Given the description of an element on the screen output the (x, y) to click on. 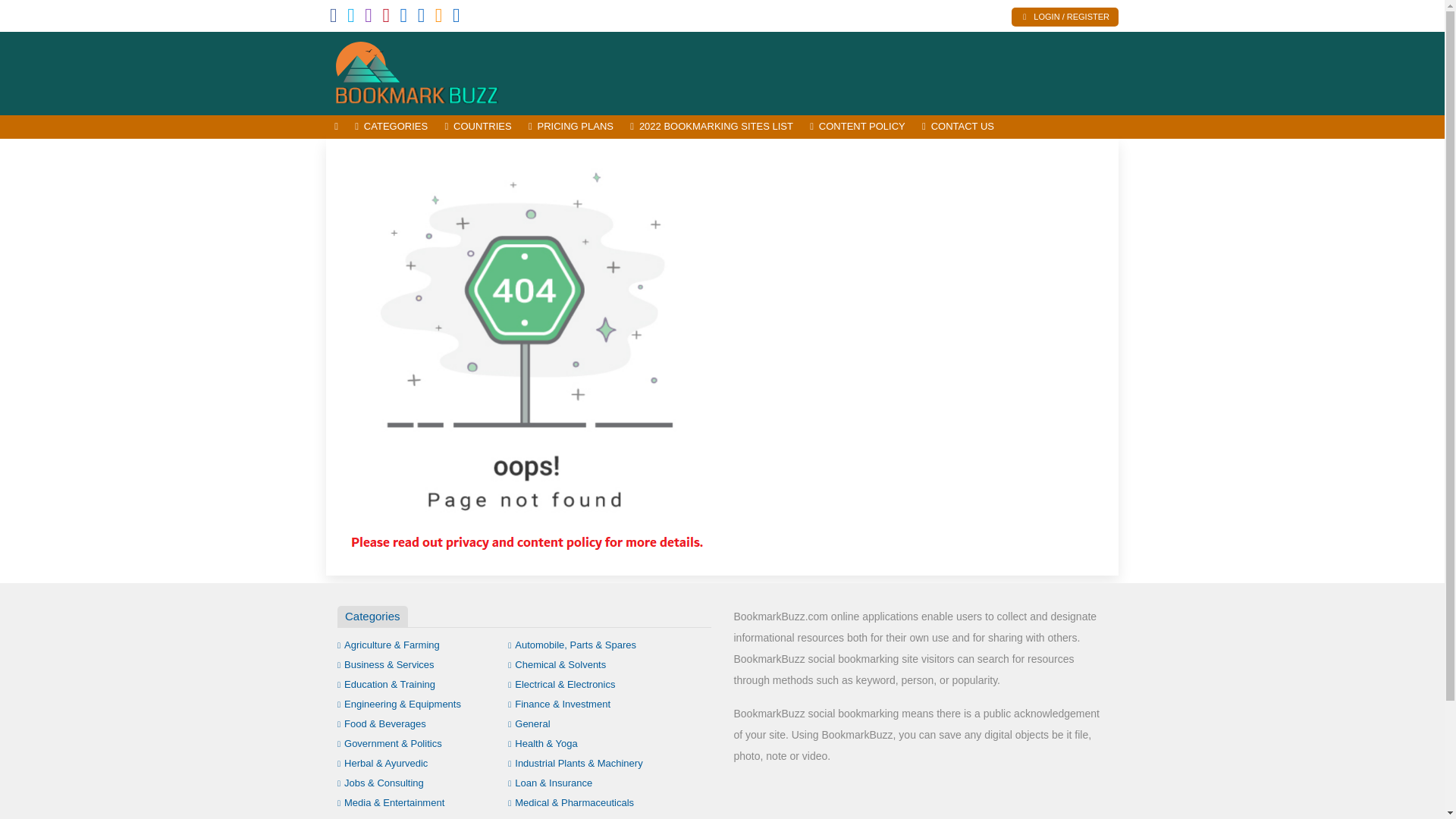
2022 BOOKMARKING SITES LIST (711, 126)
CATEGORIES (390, 126)
COUNTRIES (477, 126)
CONTACT US (958, 126)
General (529, 723)
CONTENT POLICY (858, 126)
PRICING PLANS (570, 126)
